Given the description of an element on the screen output the (x, y) to click on. 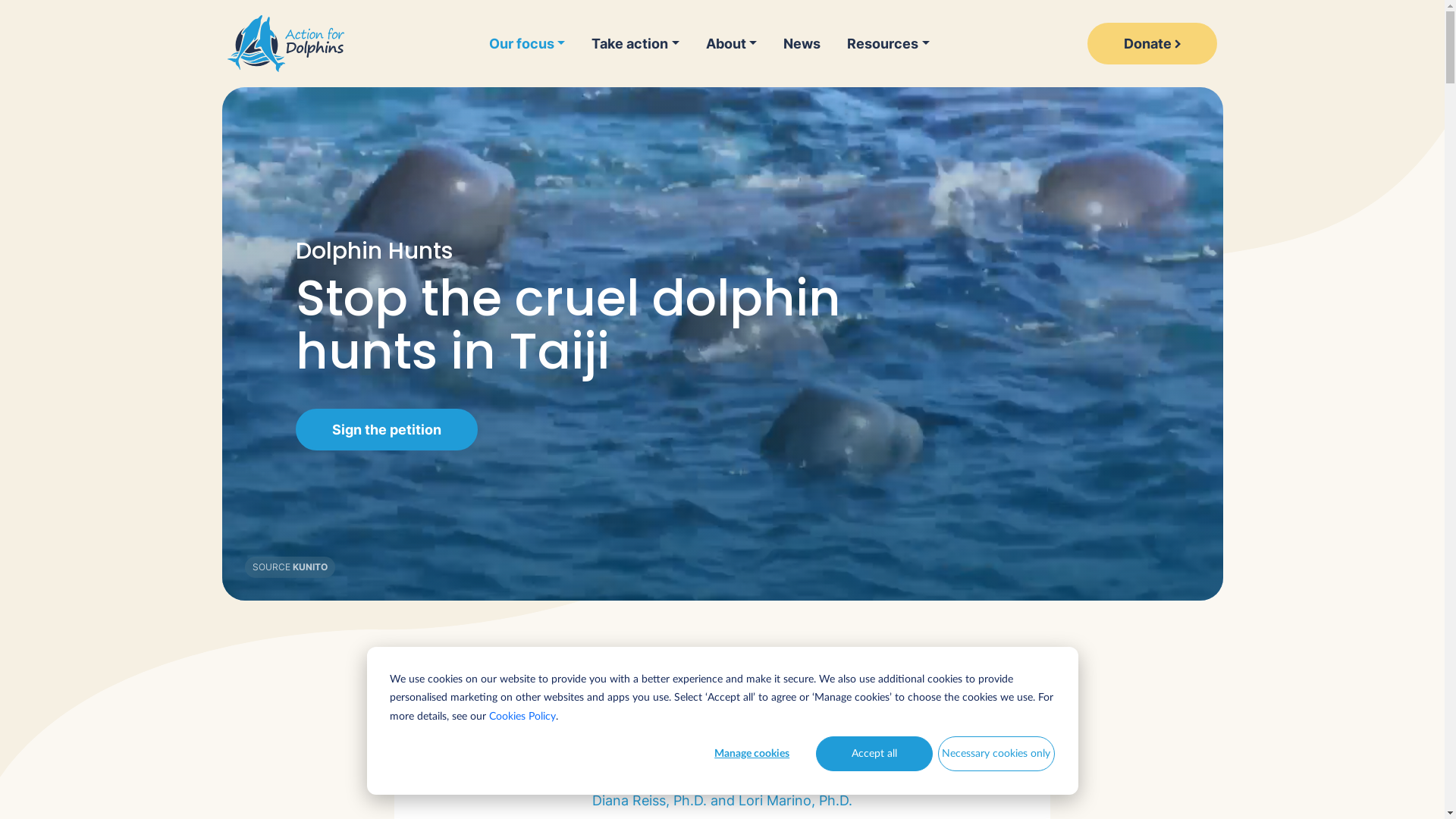
Necessary cookies only Element type: text (996, 753)
Cookies Policy Element type: text (522, 716)
Sign the petition Element type: text (386, 429)
Resources Element type: text (888, 43)
Our focus Element type: text (533, 43)
About Element type: text (731, 43)
Donate Element type: text (1152, 43)
Diana Reiss, Ph.D. and Lori Marino, Ph.D. Element type: text (722, 800)
Take action Element type: text (635, 43)
News Element type: text (802, 43)
Manage cookies Element type: text (751, 753)
Accept all Element type: text (873, 753)
